Given the description of an element on the screen output the (x, y) to click on. 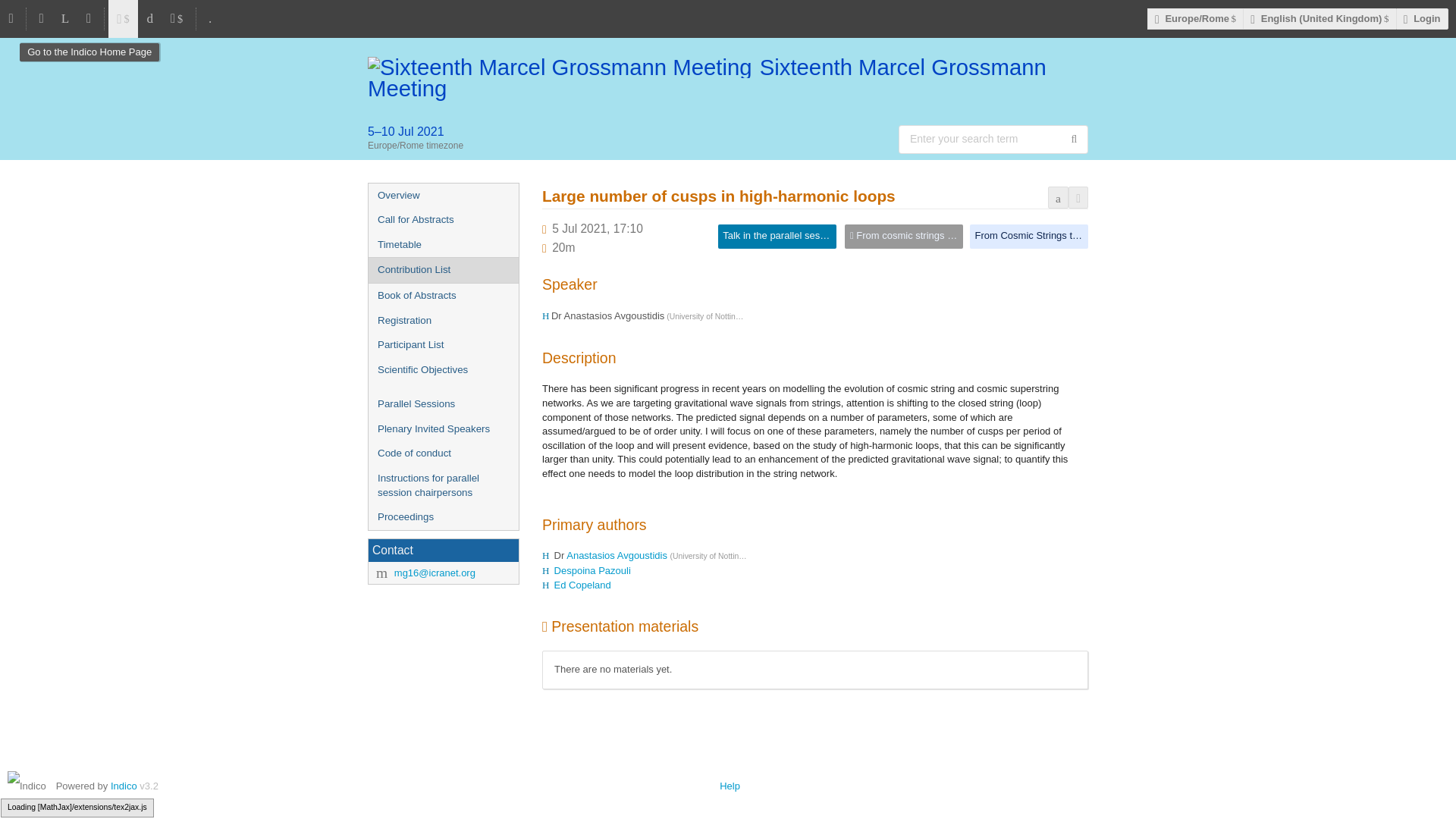
Overview (443, 195)
Participant List (443, 344)
Parallel Sessions (443, 404)
Timetable (443, 244)
Sixteenth Marcel Grossmann Meeting (727, 77)
Code of conduct (443, 453)
Contribution List (443, 269)
Book of Abstracts (443, 295)
Scientific Objectives (443, 370)
Call for Abstracts (443, 220)
Login (1422, 19)
Cosmic Strings: From cosmic strings to superstrings (903, 236)
Duration (563, 246)
Registration (443, 320)
Plenary Invited Speakers (443, 429)
